Given the description of an element on the screen output the (x, y) to click on. 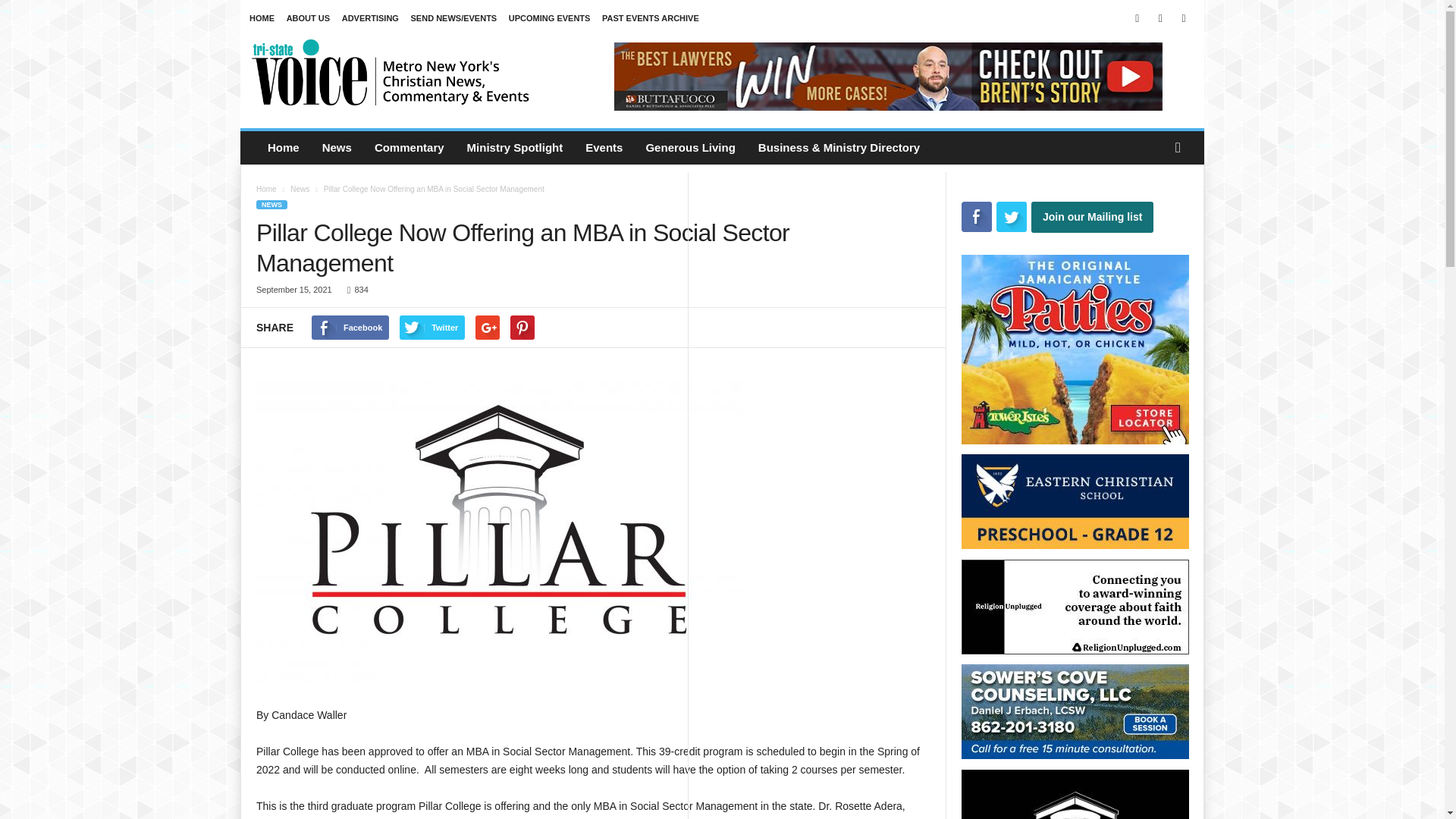
ADVERTISING (370, 17)
Home (283, 147)
Twitter (1183, 18)
HOME (261, 17)
Tri-State Voice (391, 70)
Home (266, 189)
News (298, 189)
Ministry Spotlight (515, 147)
Commentary (408, 147)
NEWS (271, 204)
ABOUT US (308, 17)
View all posts in News (298, 189)
UPCOMING EVENTS (549, 17)
News (336, 147)
